Given the description of an element on the screen output the (x, y) to click on. 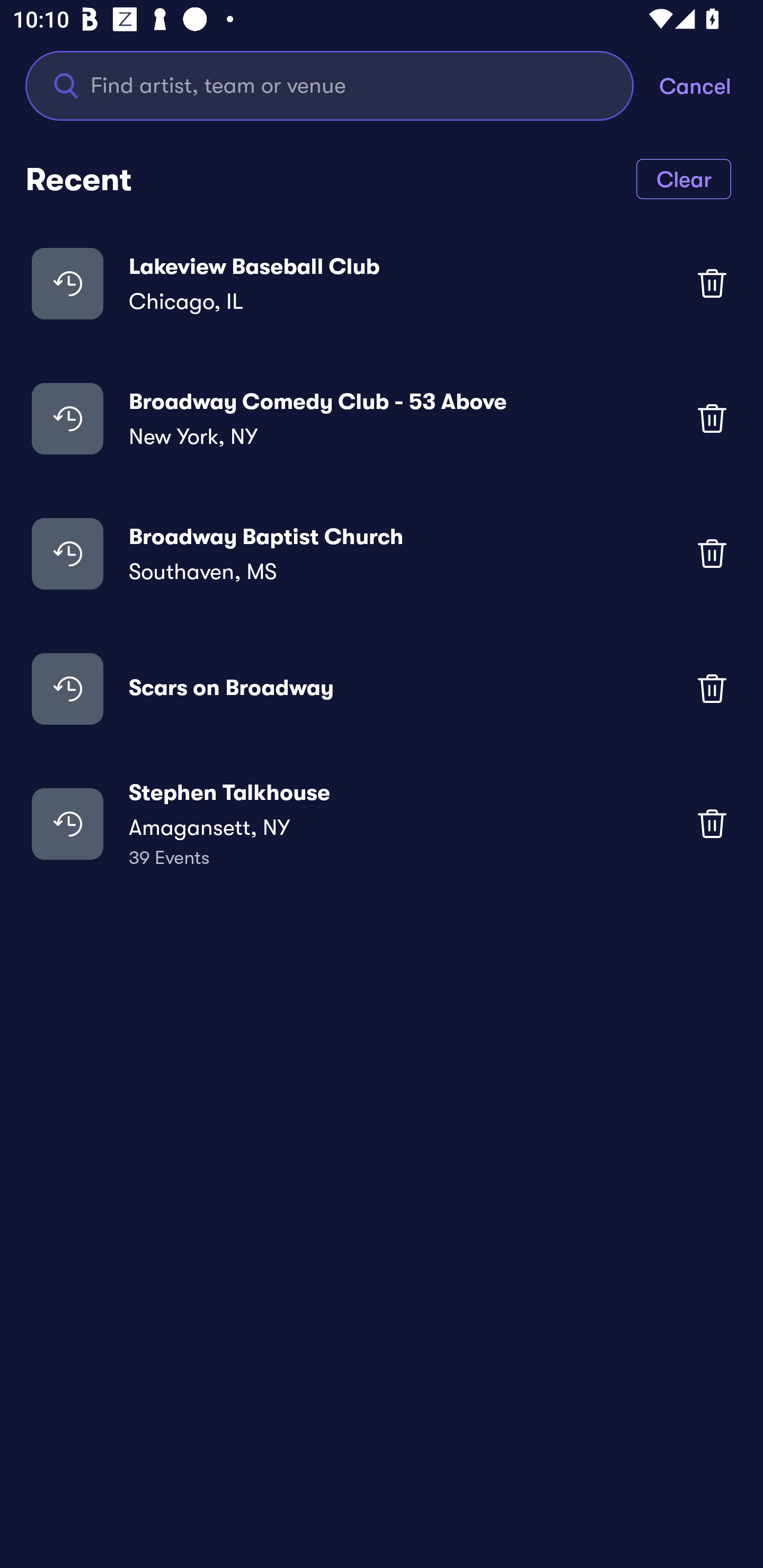
Cancel (711, 85)
Find artist, team or venue Find (329, 85)
Find artist, team or venue Find (341, 85)
Clear (683, 178)
Lakeview Baseball Club Chicago, IL (381, 282)
Broadway Comedy Club - 53 Above New York, NY (381, 417)
Broadway Baptist Church Southaven, MS (381, 553)
Scars on Broadway (381, 688)
Stephen Talkhouse Amagansett, NY 39 Events (381, 823)
